Given the description of an element on the screen output the (x, y) to click on. 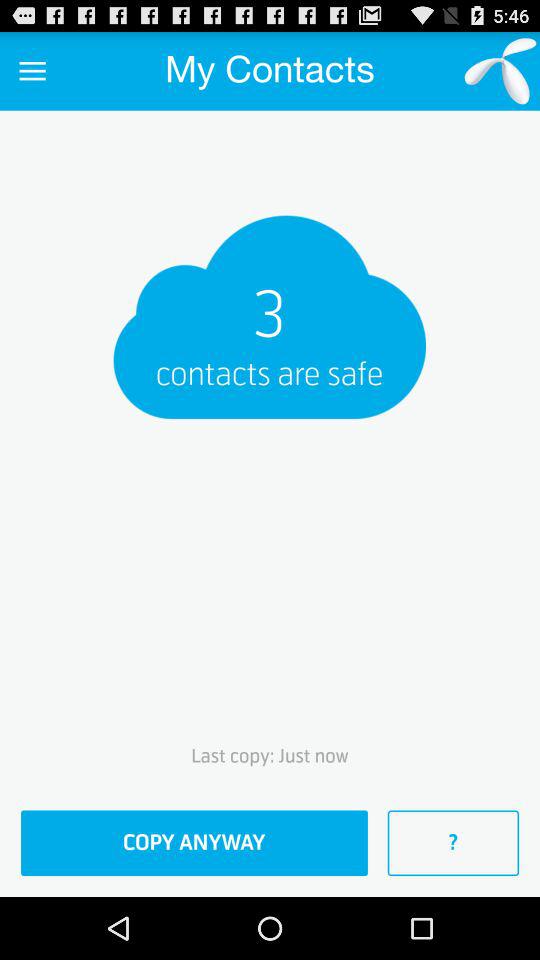
tap icon next to the  ?  icon (194, 843)
